Given the description of an element on the screen output the (x, y) to click on. 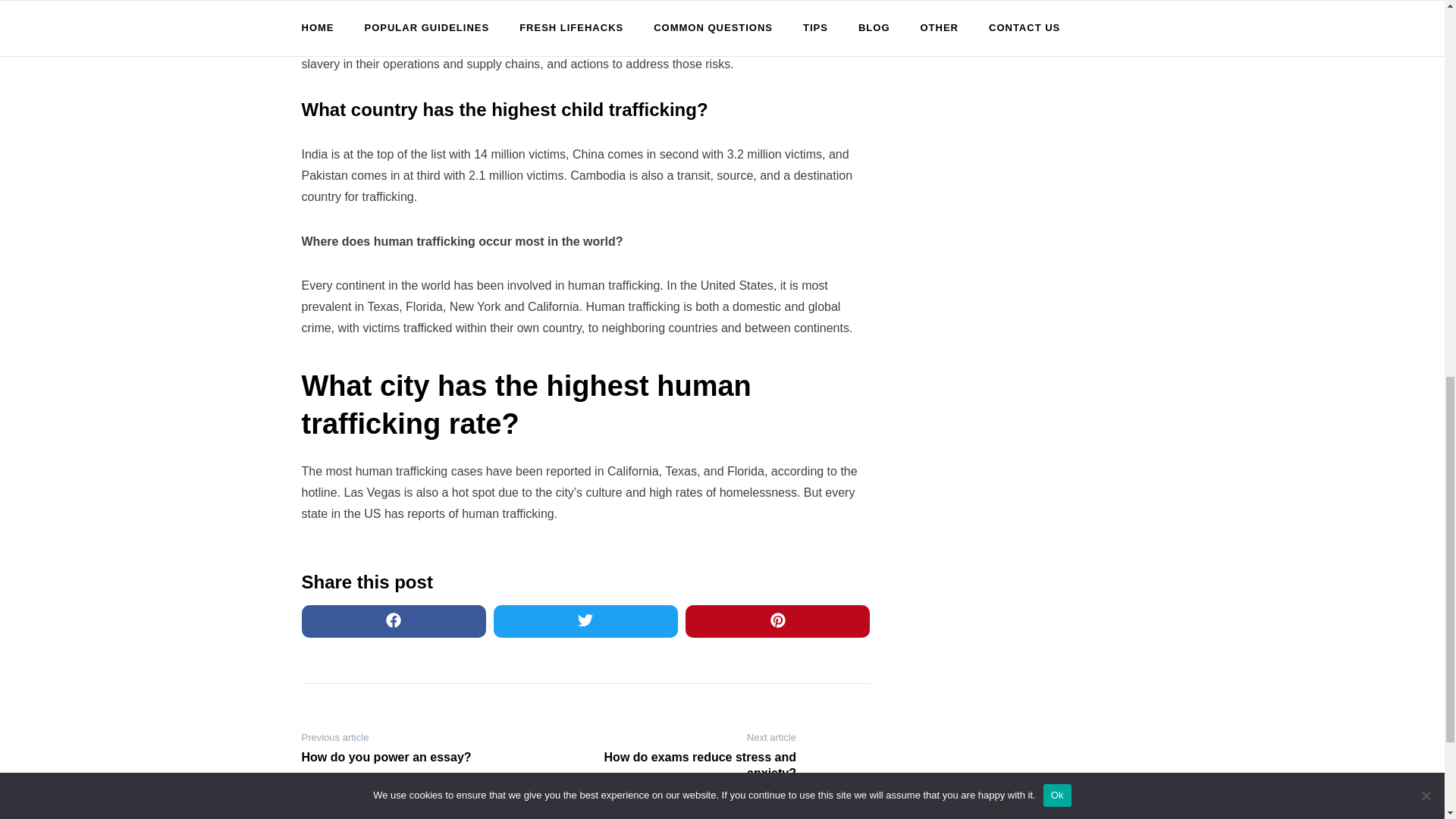
How do you power an essay? (400, 757)
How do exams reduce stress and anxiety? (696, 766)
